Given the description of an element on the screen output the (x, y) to click on. 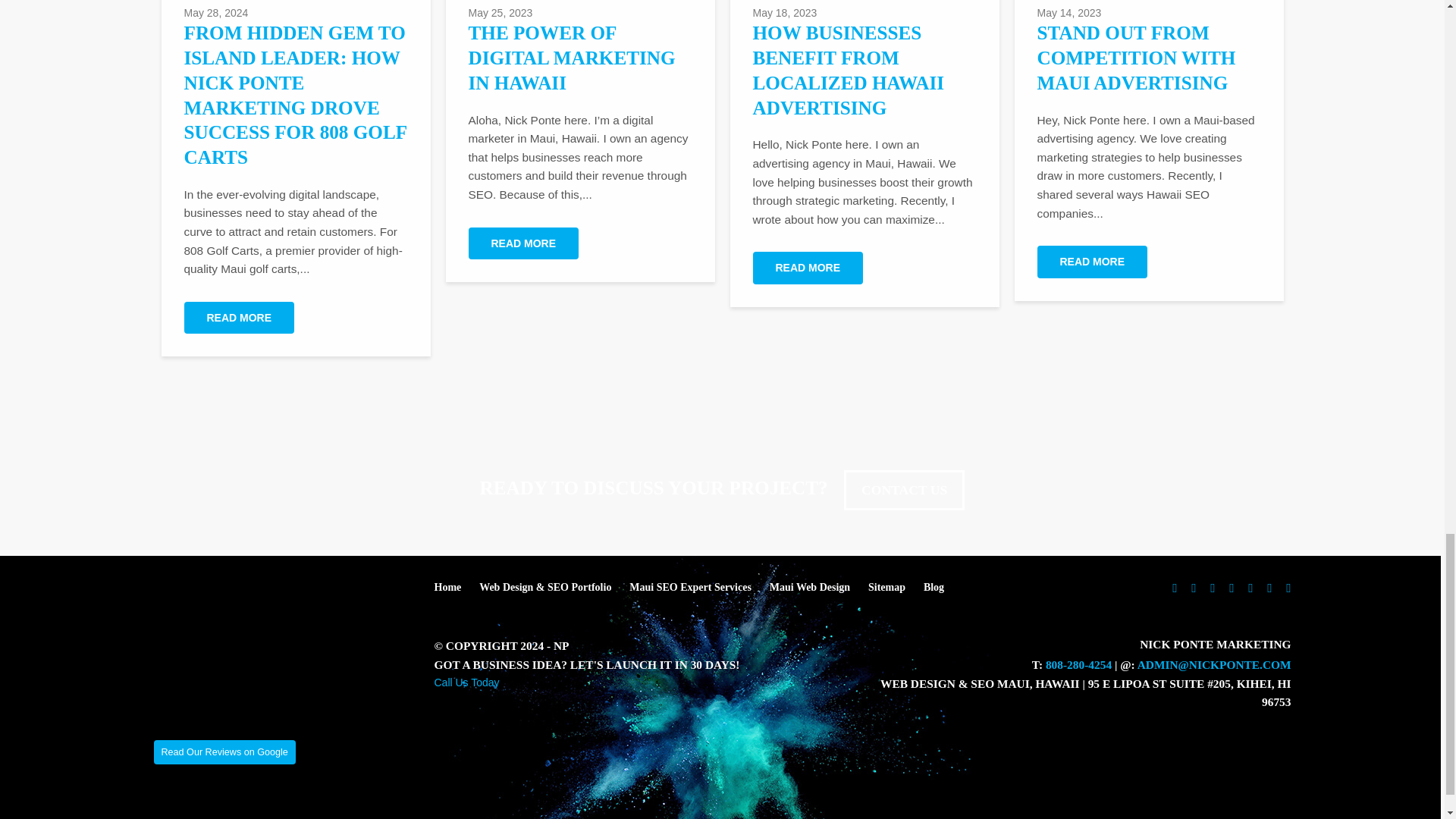
READ MORE (523, 243)
READ MORE (238, 317)
READ MORE (1092, 261)
STAND OUT FROM COMPETITION WITH MAUI ADVERTISING (1136, 57)
HOW BUSINESSES BENEFIT FROM LOCALIZED HAWAII ADVERTISING (847, 69)
READ MORE (807, 267)
THE POWER OF DIGITAL MARKETING IN HAWAII (571, 57)
